Given the description of an element on the screen output the (x, y) to click on. 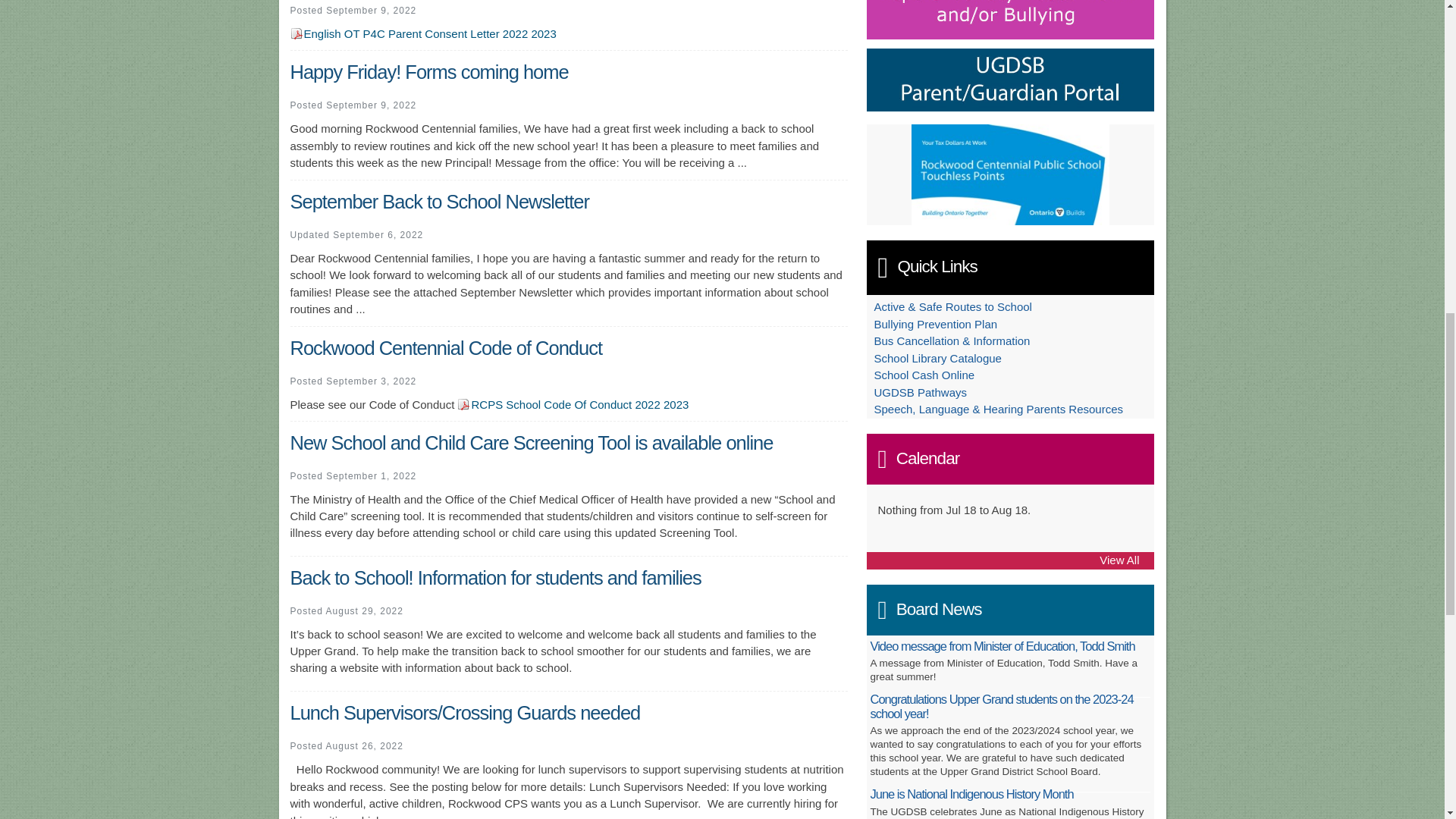
Video message from Minister of Education, Todd Smith (1002, 645)
RCPS School Code Of Conduct 2022 2023 (572, 404)
September Back to School Newsletter (438, 201)
New School and Child Care Screening Tool is available online (531, 442)
Happy Friday! Forms coming home (428, 71)
Back to School! Information for students and families (494, 577)
Rockwood Centennial Code of Conduct (445, 347)
English OT P4C Parent Consent Letter 2022 2023 (422, 33)
June is National Indigenous History Month (972, 793)
